Given the description of an element on the screen output the (x, y) to click on. 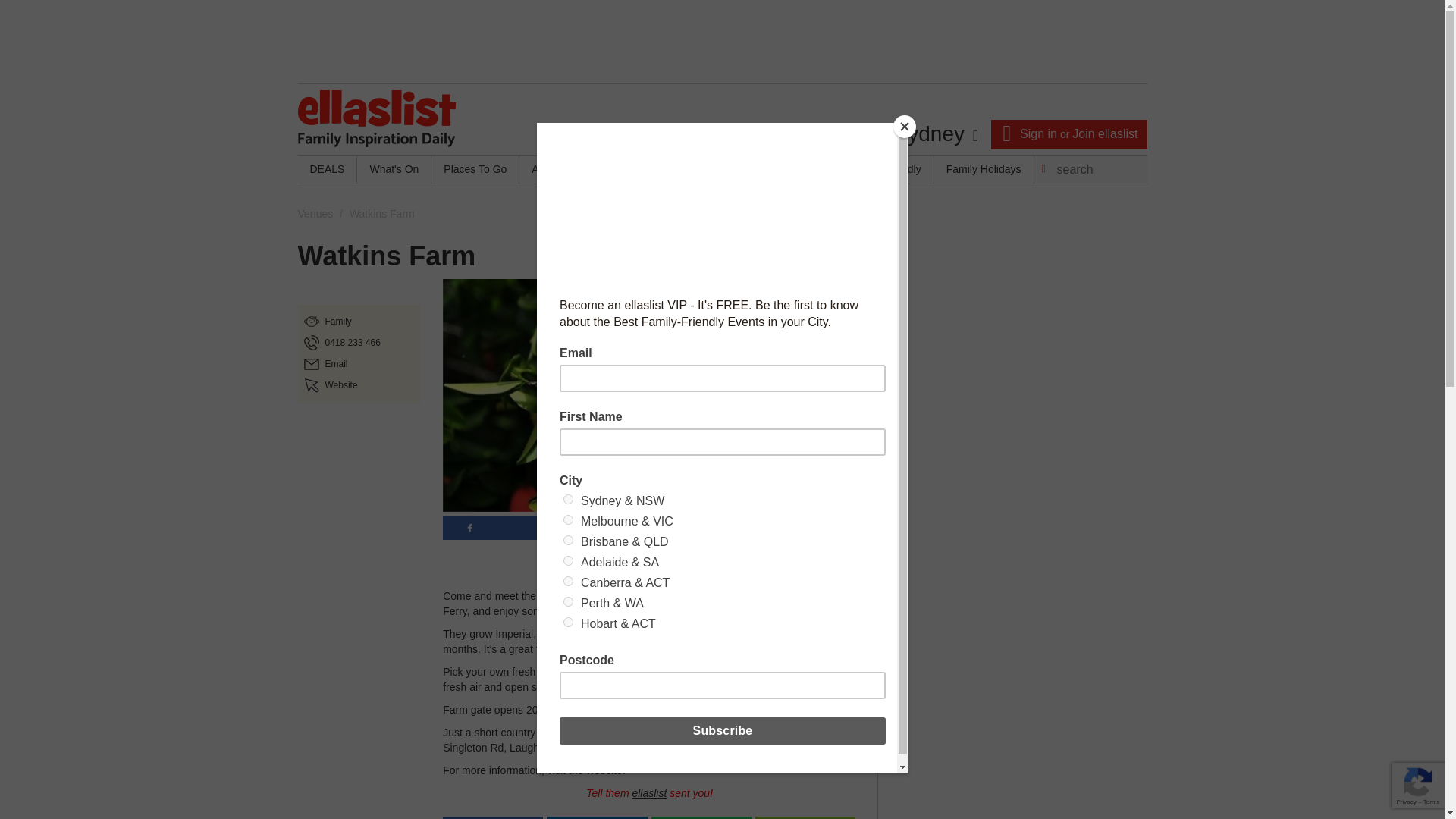
Email (335, 363)
Around You (558, 169)
Join ellaslist (1104, 133)
Sign in (1038, 133)
Best Reads (788, 169)
3rd party ad content (721, 41)
What's On (393, 169)
Venues (315, 214)
Kids Classes (642, 169)
Schools (716, 169)
3rd party ad content (1012, 776)
ellaslist (648, 793)
DEALS (326, 169)
Sensory-Friendly (880, 169)
Website (340, 385)
